Given the description of an element on the screen output the (x, y) to click on. 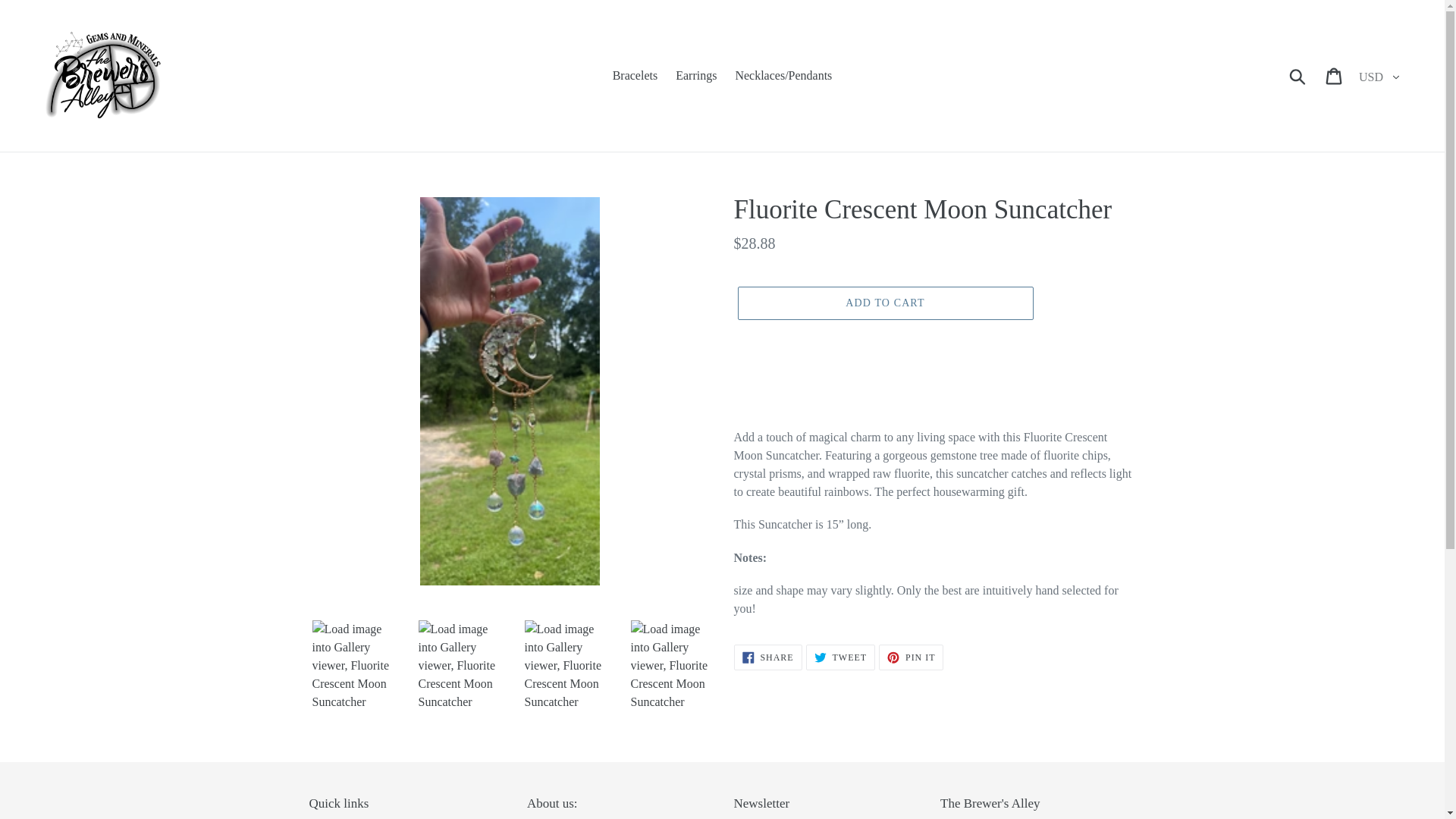
Earrings (695, 75)
Cart (1334, 75)
Submit (911, 657)
ADD TO CART (1298, 75)
Bracelets (884, 303)
